Given the description of an element on the screen output the (x, y) to click on. 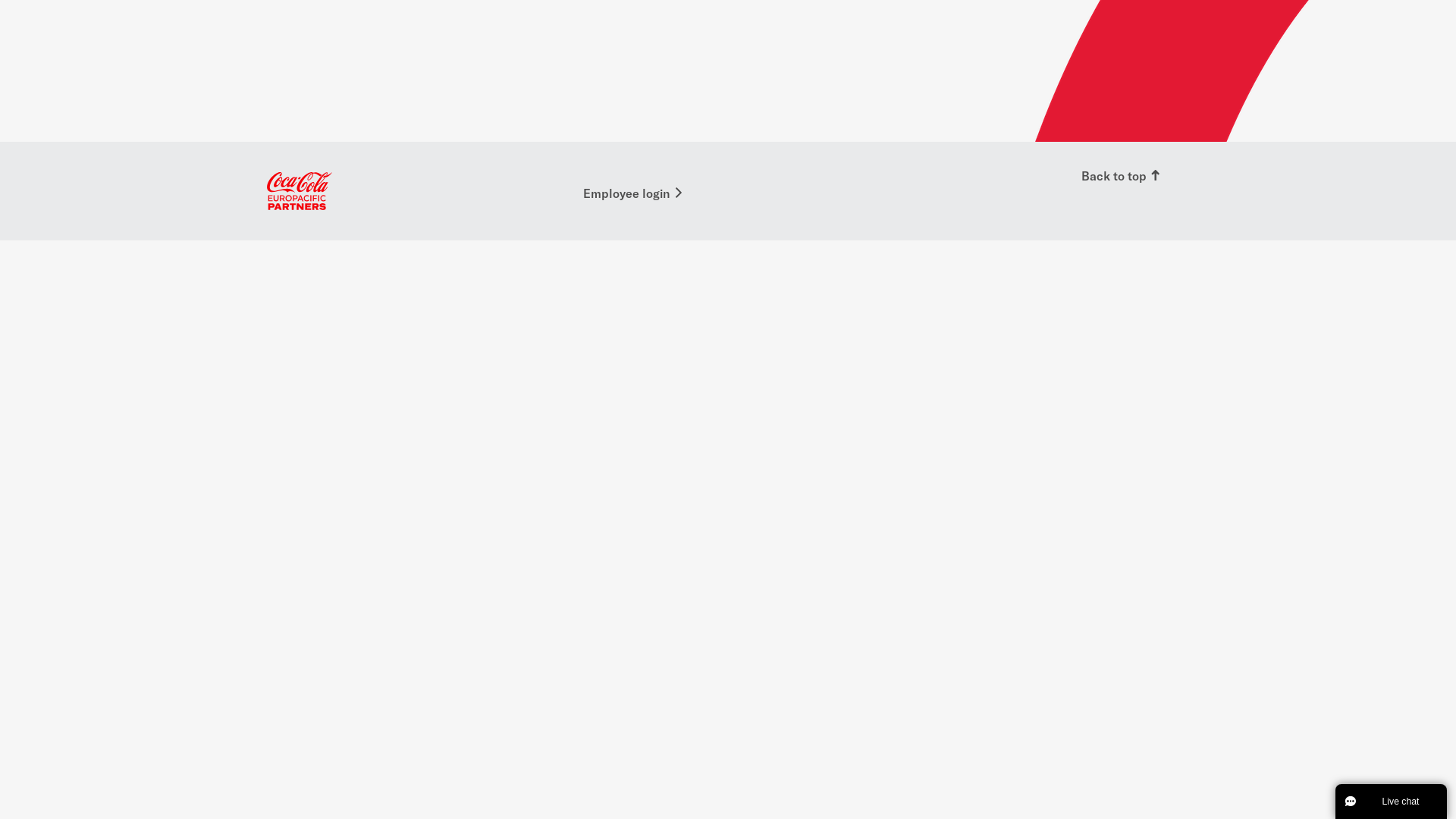
Back to top Element type: text (1121, 175)
Employee login Element type: text (633, 193)
